Given the description of an element on the screen output the (x, y) to click on. 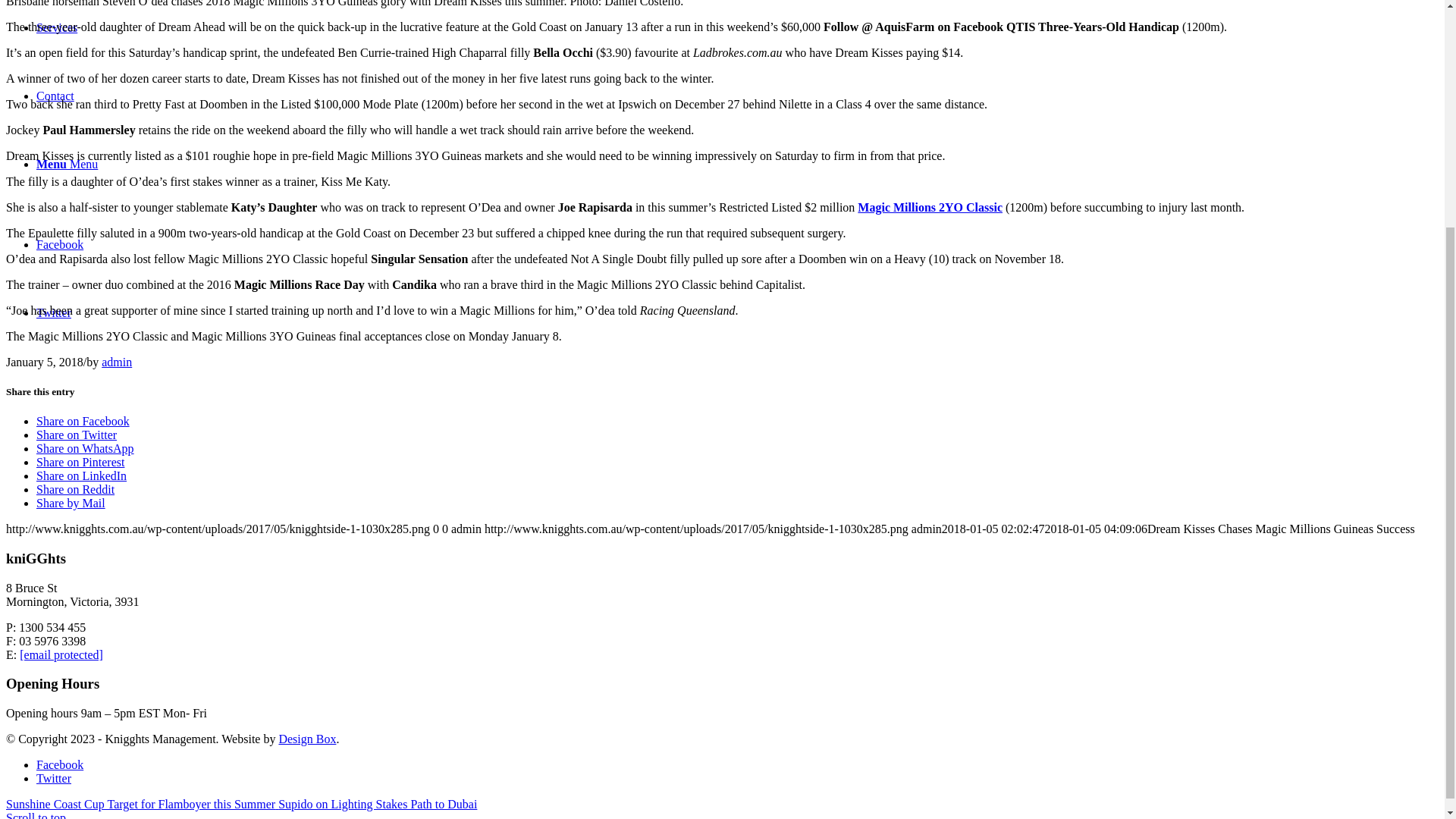
Twitter (53, 778)
Supido on Lighting Stakes Path to Dubai (377, 803)
Posts by admin (116, 361)
Twitter (53, 778)
Contact (55, 95)
Share on LinkedIn (81, 475)
Facebook (59, 244)
Facebook (59, 244)
Magic Millions 2YO Classic (930, 206)
Share on WhatsApp (84, 448)
Facebook (59, 764)
Share by Mail (70, 502)
Facebook (59, 764)
Share on Reddit (75, 489)
Menu Menu (66, 164)
